Given the description of an element on the screen output the (x, y) to click on. 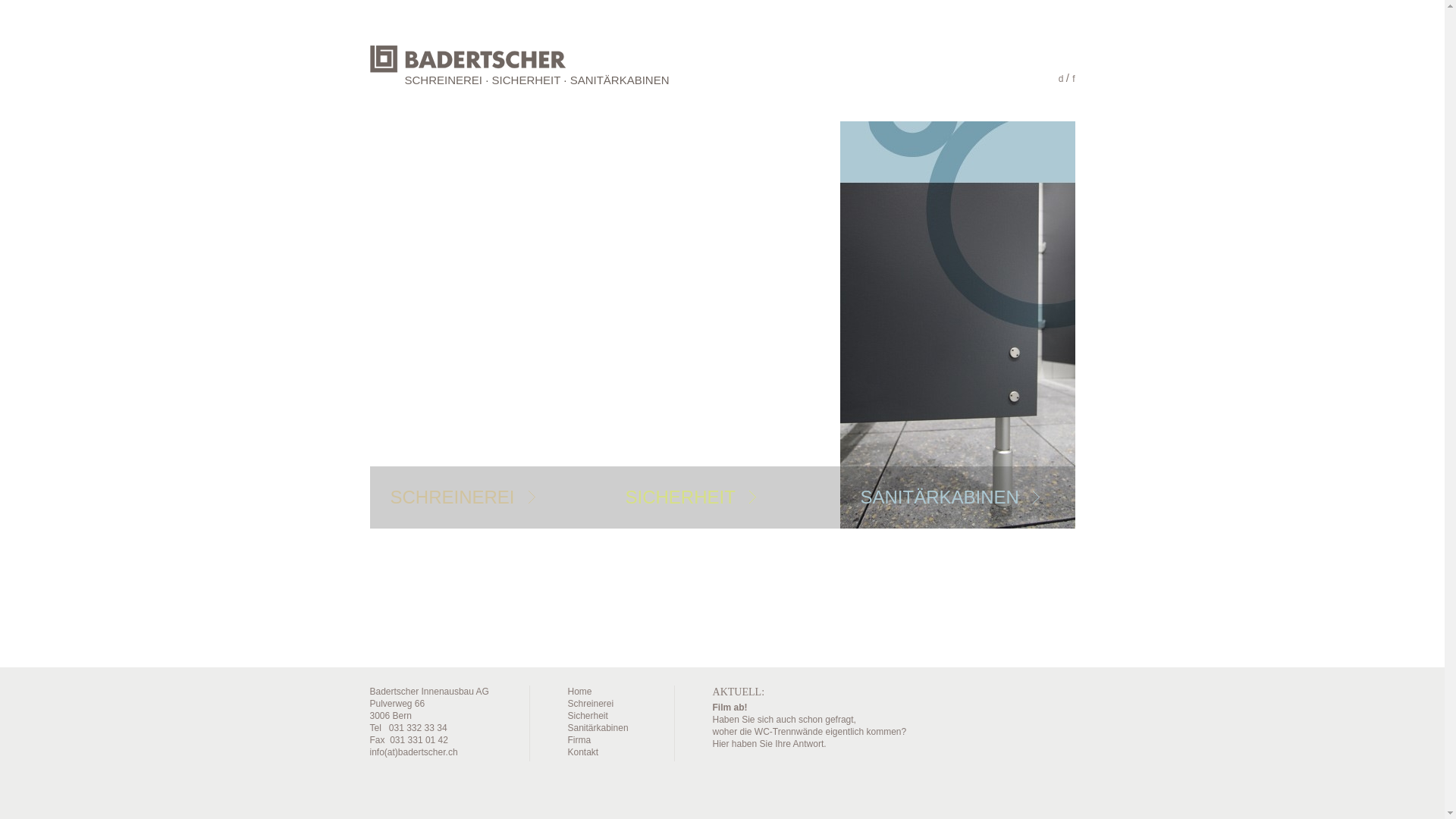
SICHERHEIT Element type: text (526, 79)
SCHREINEREI Element type: text (443, 79)
Firma Element type: text (578, 739)
Kontakt Element type: text (582, 751)
SCHREINEREI Element type: text (451, 496)
f Element type: text (1073, 78)
Sicherheit Element type: text (587, 715)
info(at)badertscher.ch Element type: text (414, 751)
Schreinerei Element type: text (590, 703)
AKTUELL: Element type: text (738, 691)
d Element type: text (1062, 78)
SICHERHEIT Element type: text (679, 496)
Home Element type: text (579, 691)
